Given the description of an element on the screen output the (x, y) to click on. 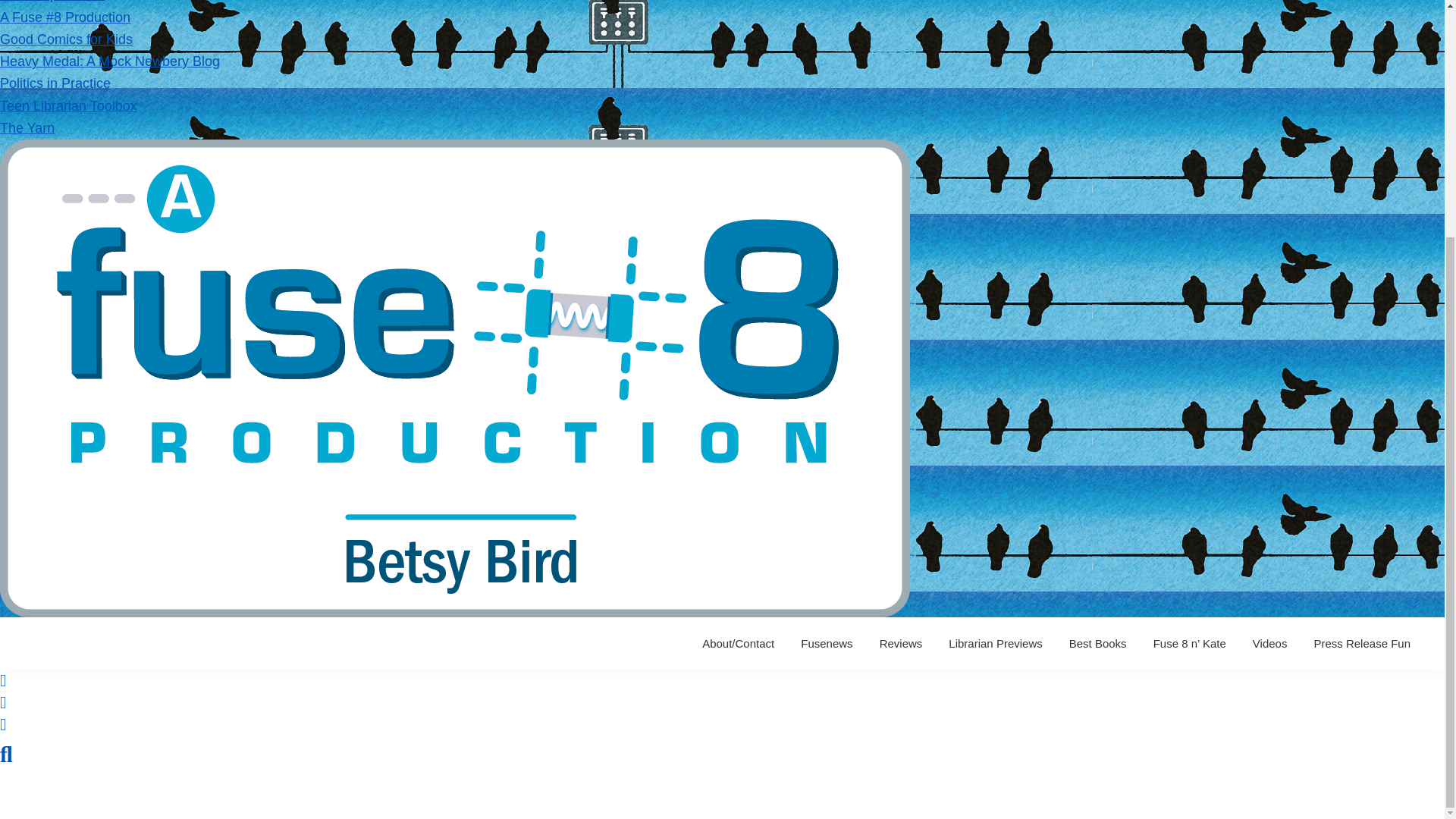
Librarian Previews (994, 643)
Heavy Medal: A Mock Newbery Blog (109, 61)
Reviews (900, 643)
100 Scope Notes (52, 1)
Good Comics for Kids (66, 38)
Politics in Practice (55, 83)
Videos (1269, 643)
Press Release Fun (1361, 643)
Fusenews (826, 643)
